Given the description of an element on the screen output the (x, y) to click on. 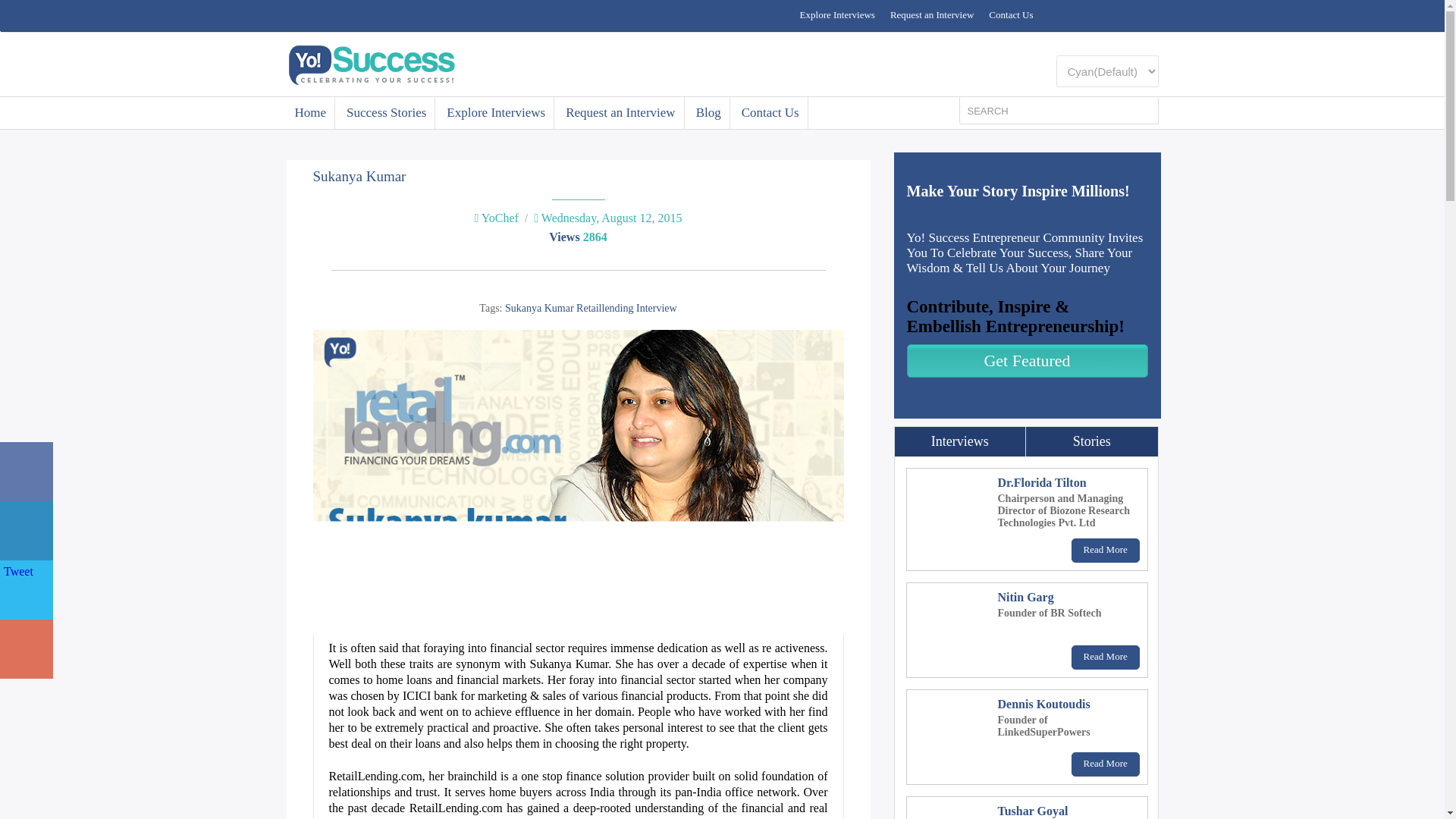
Dr.Florida Tilton (1041, 481)
Request an Interview (931, 15)
Nitin Garg (1025, 596)
Request an Interview (620, 112)
Tushar Goyal (1032, 810)
Get Featured (1027, 360)
Explore Interviews (496, 112)
Read More (1105, 657)
Explore Interviews (837, 15)
Interviews (960, 441)
